Given the description of an element on the screen output the (x, y) to click on. 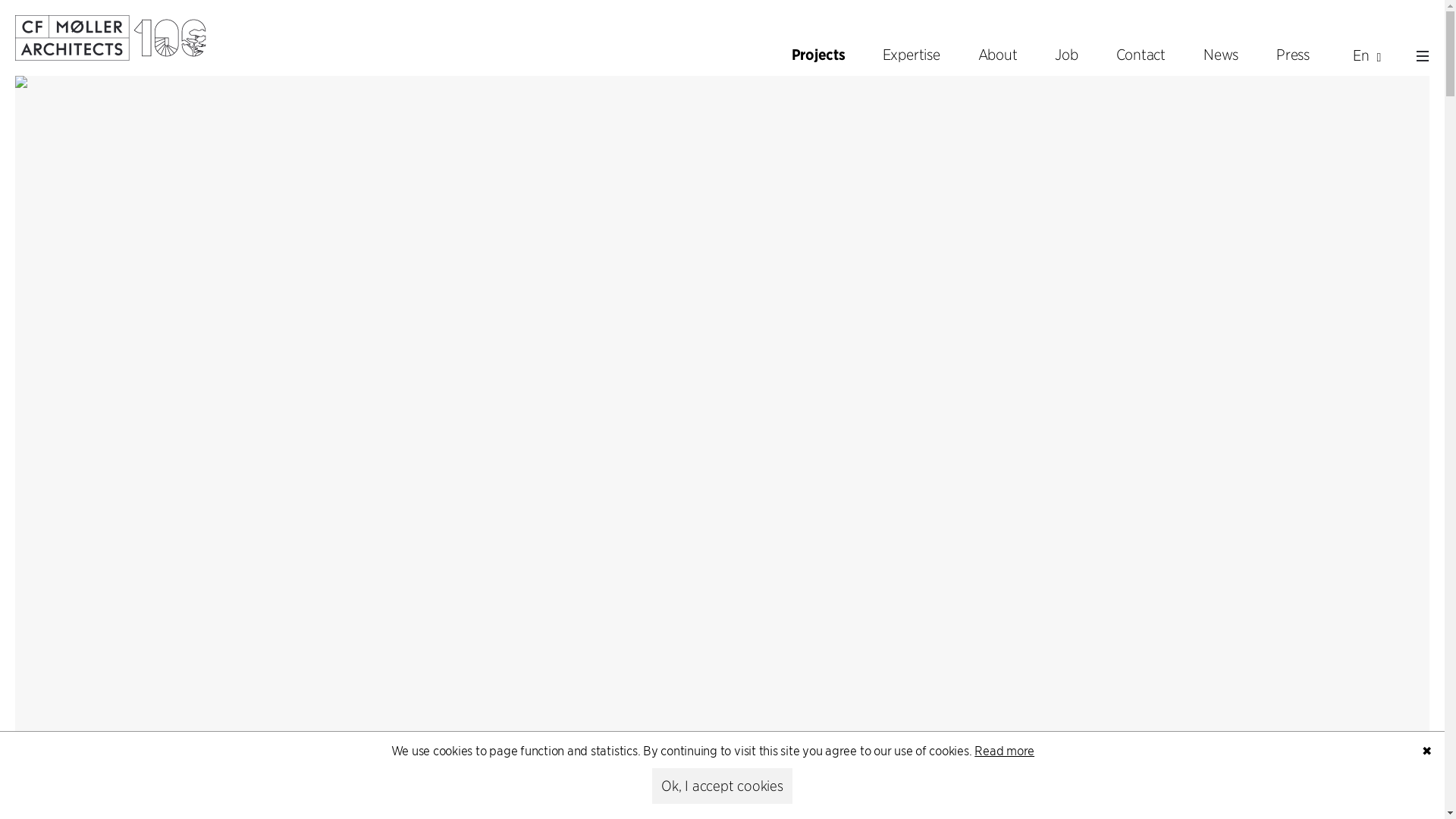
En (1362, 55)
Press (1292, 55)
Job (1066, 55)
Contact (1140, 55)
About (996, 55)
Expertise (911, 55)
Projects (818, 55)
News (1220, 55)
